Given the description of an element on the screen output the (x, y) to click on. 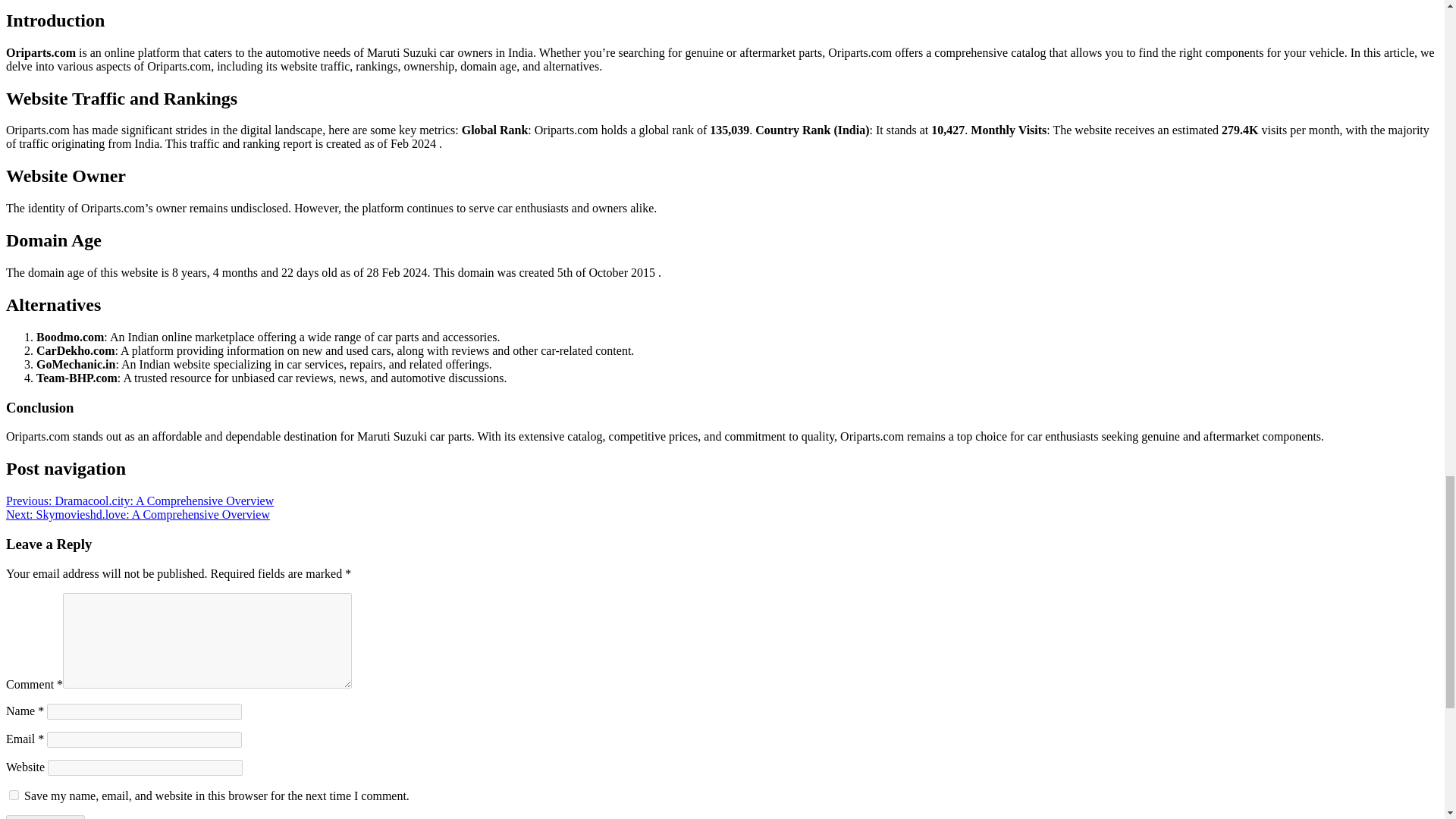
Post Comment (44, 816)
yes (13, 795)
